Given the description of an element on the screen output the (x, y) to click on. 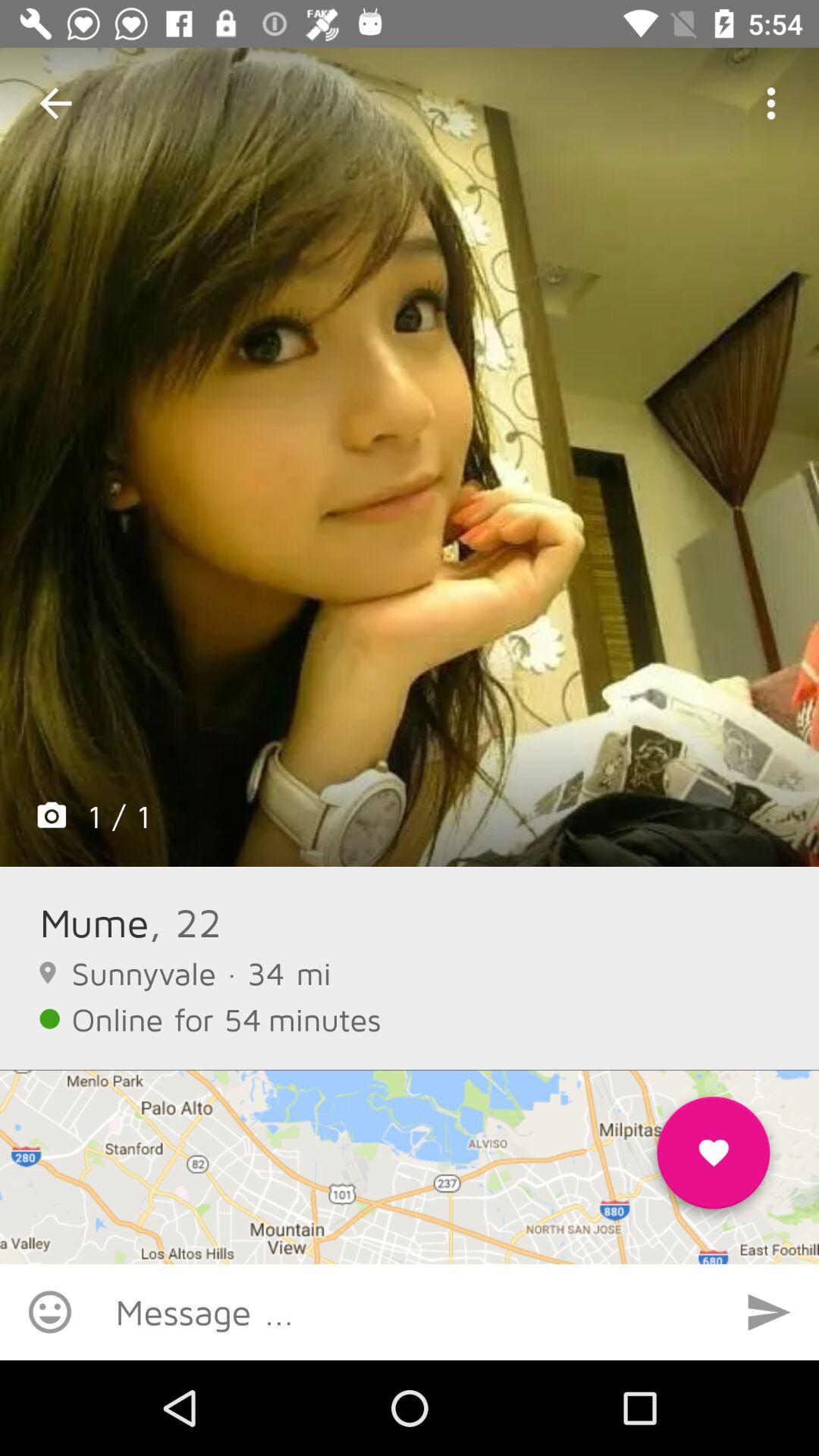
smily (49, 1312)
